Given the description of an element on the screen output the (x, y) to click on. 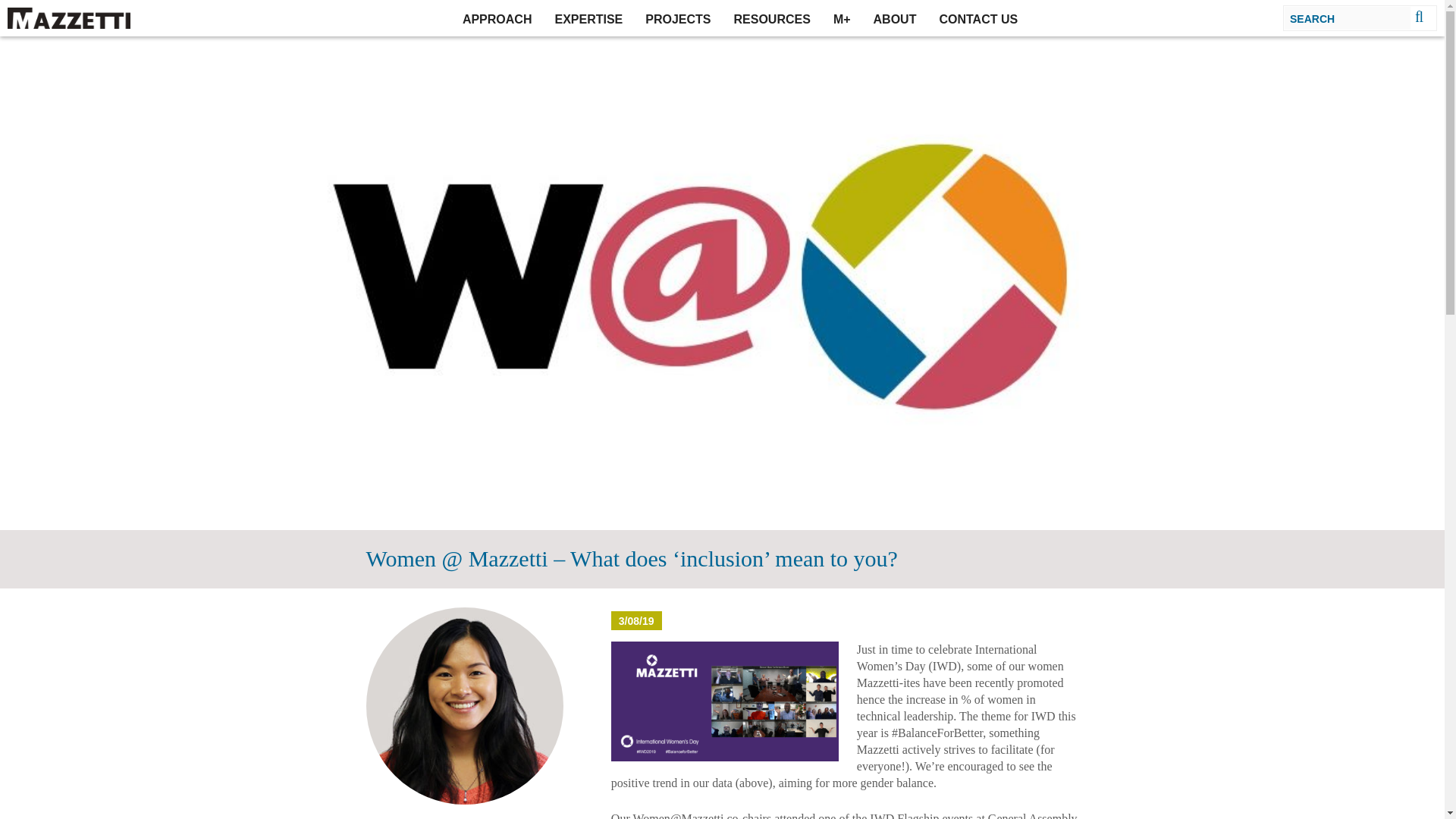
PROJECTS (677, 18)
EXPERTISE (588, 18)
ABOUT (894, 18)
APPROACH (497, 18)
Search for: (1348, 17)
RESOURCES (772, 18)
